Given the description of an element on the screen output the (x, y) to click on. 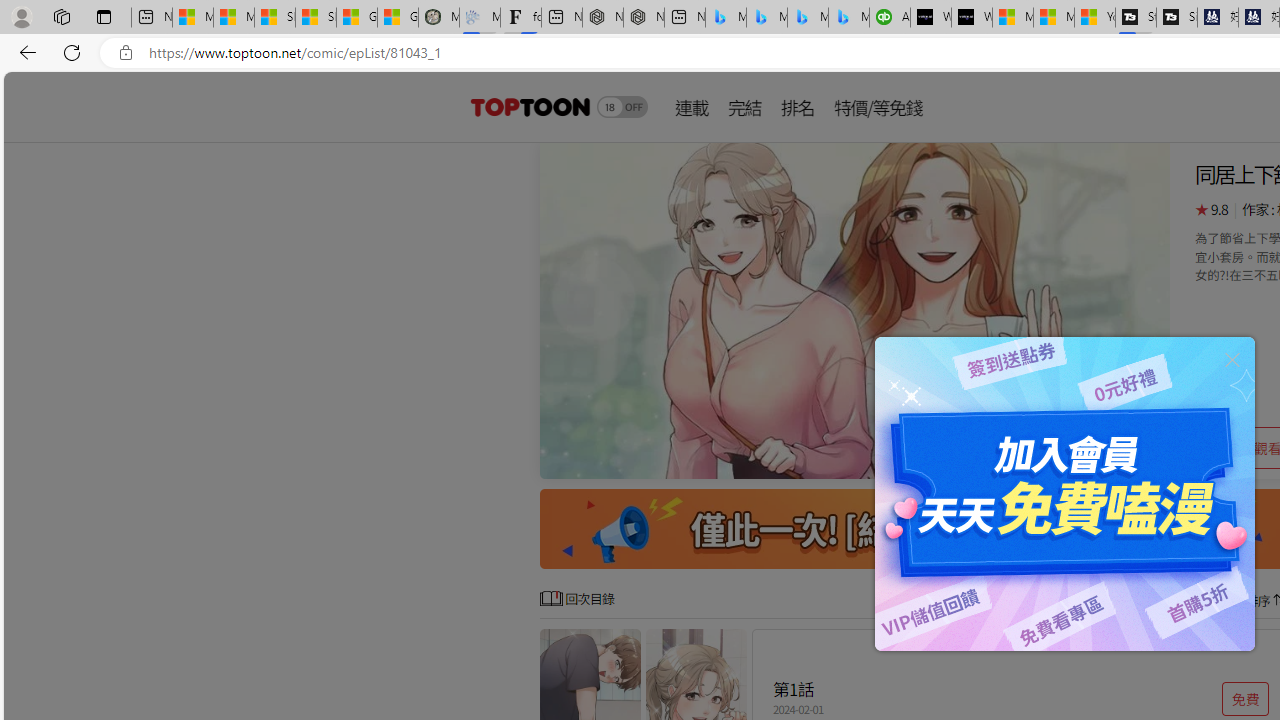
Accounting Software for Accountants, CPAs and Bookkeepers (890, 17)
header (527, 106)
